Given the description of an element on the screen output the (x, y) to click on. 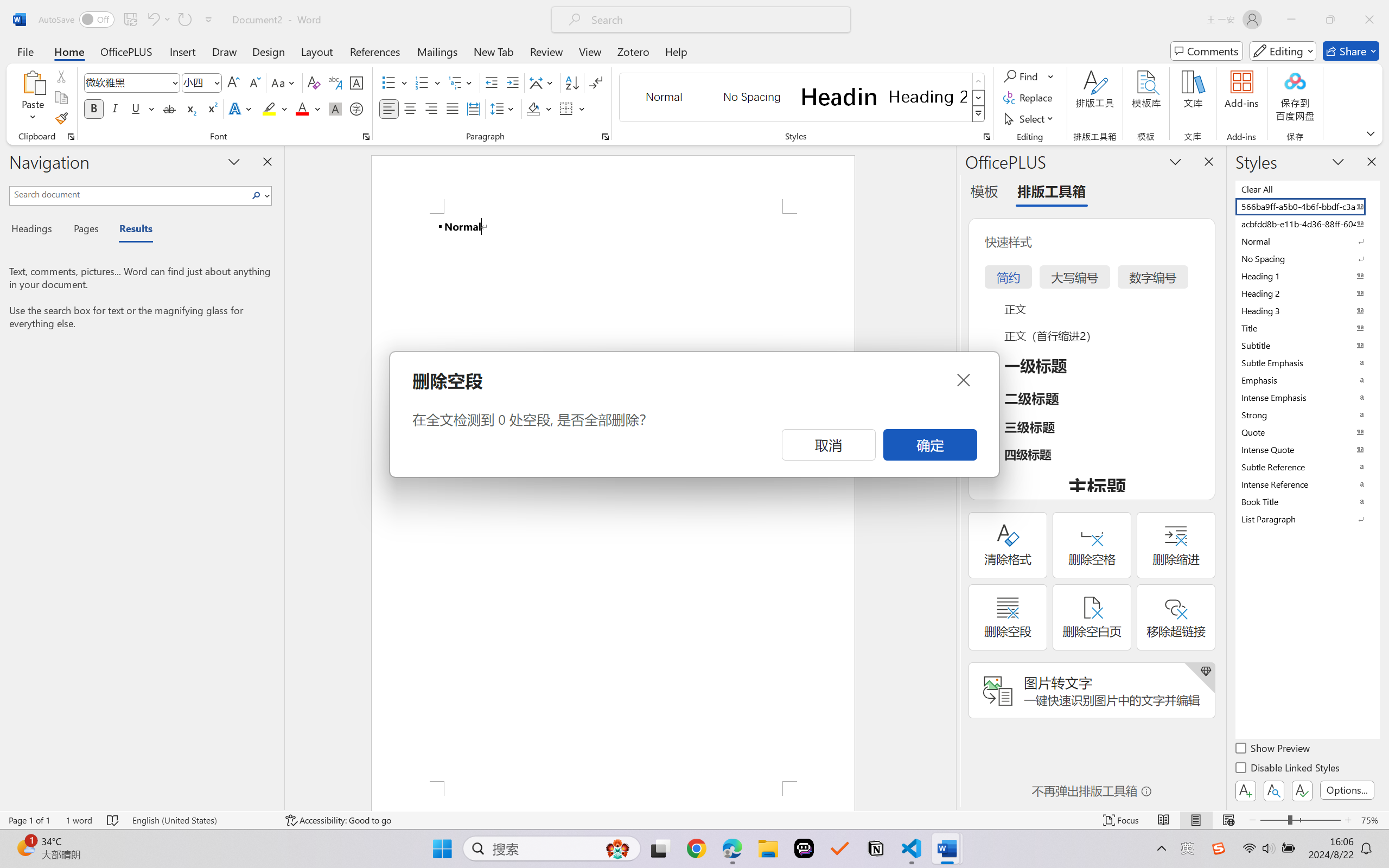
Ribbon Display Options (1370, 132)
Language English (United States) (201, 819)
Select (1030, 118)
Multilevel List (461, 82)
Subtle Emphasis (1306, 362)
Results (130, 229)
Grow Font (233, 82)
Undo <ApplyStyleToDoc>b__0 (158, 19)
Emphasis (1306, 379)
Print Layout (1196, 819)
Clear Formatting (313, 82)
Search document (128, 193)
